Given the description of an element on the screen output the (x, y) to click on. 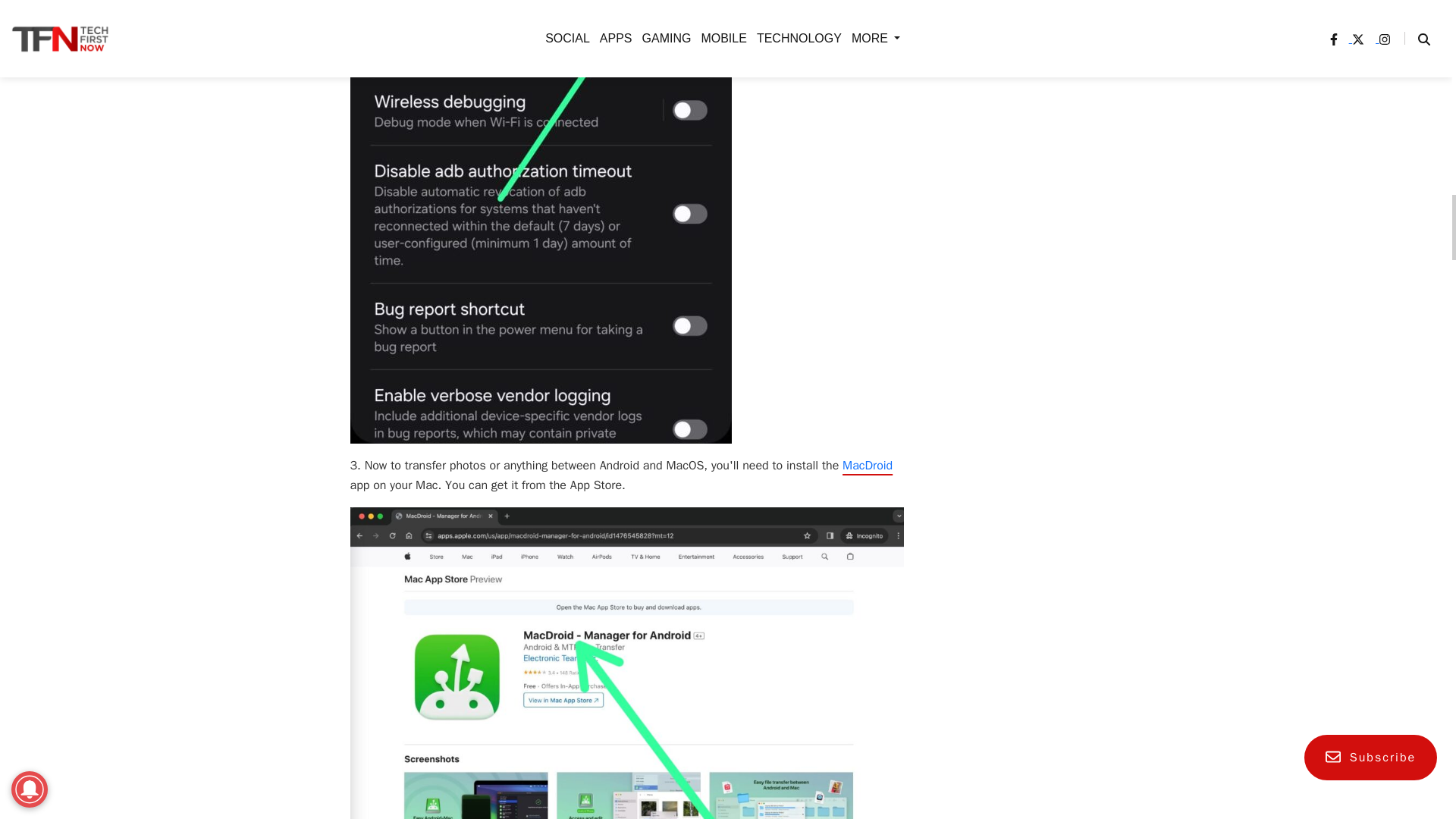
MacDroid (867, 465)
